Given the description of an element on the screen output the (x, y) to click on. 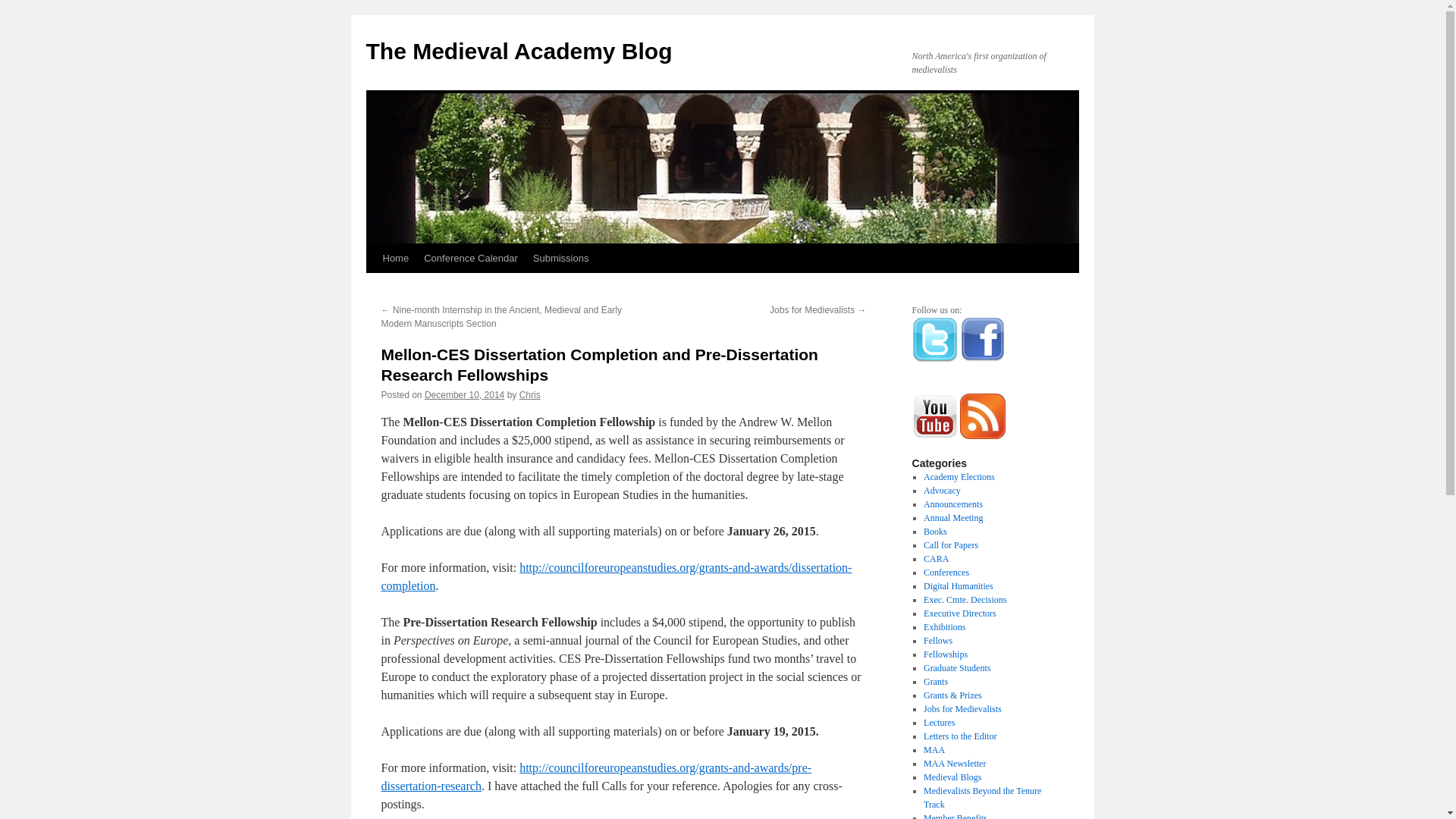
Executive Directors (959, 613)
Chris (529, 394)
Conferences (946, 572)
The Medieval Academy Blog (518, 50)
Call for Papers (950, 544)
View all posts by Chris (529, 394)
Academy Elections (958, 476)
Digital Humanities (957, 585)
Fellows (937, 640)
Grants (935, 681)
Home (395, 258)
Fellowships (945, 654)
December 10, 2014 (464, 394)
Books (935, 531)
Exhibitions (944, 626)
